Given the description of an element on the screen output the (x, y) to click on. 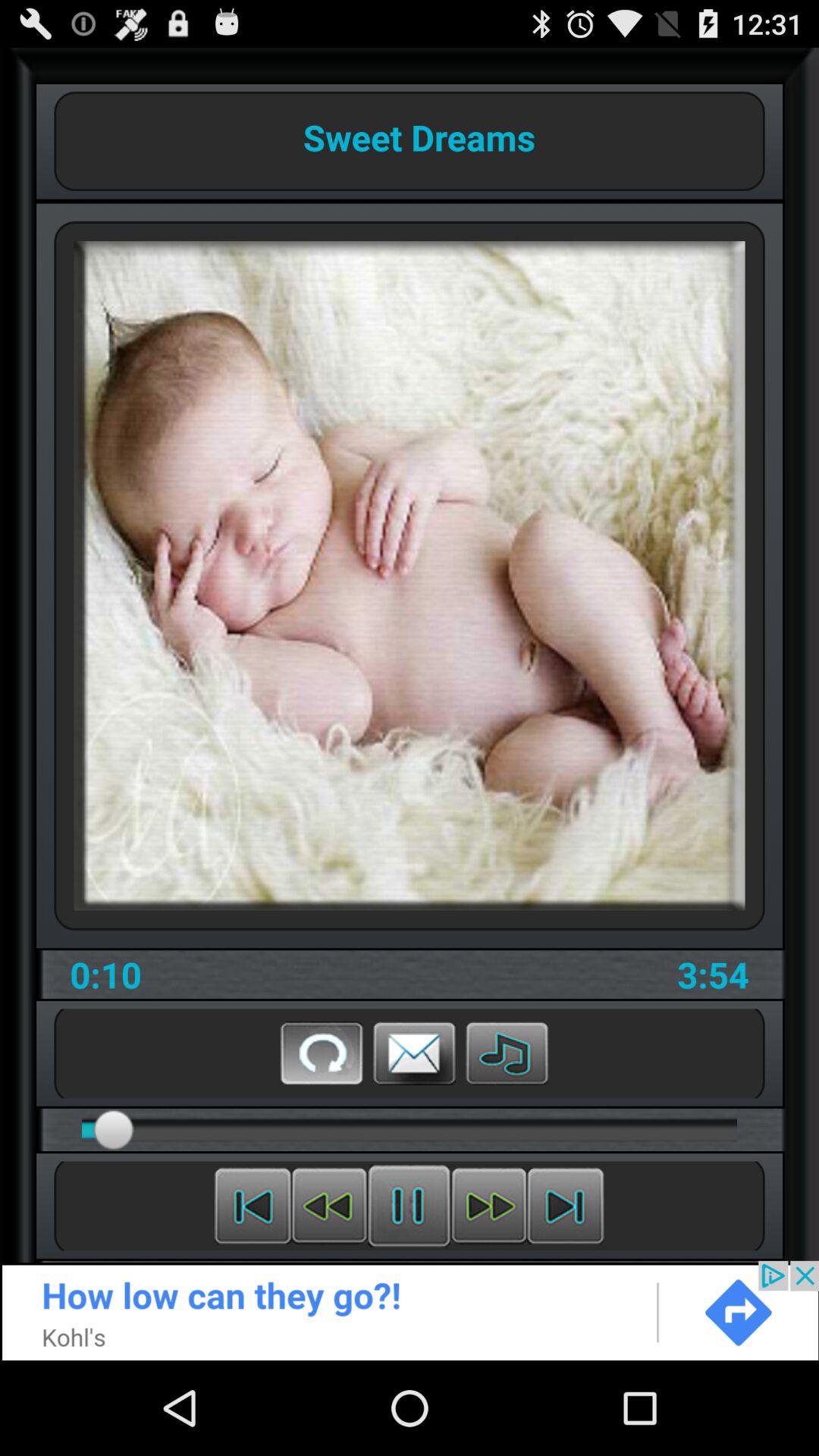
forward button (488, 1205)
